Given the description of an element on the screen output the (x, y) to click on. 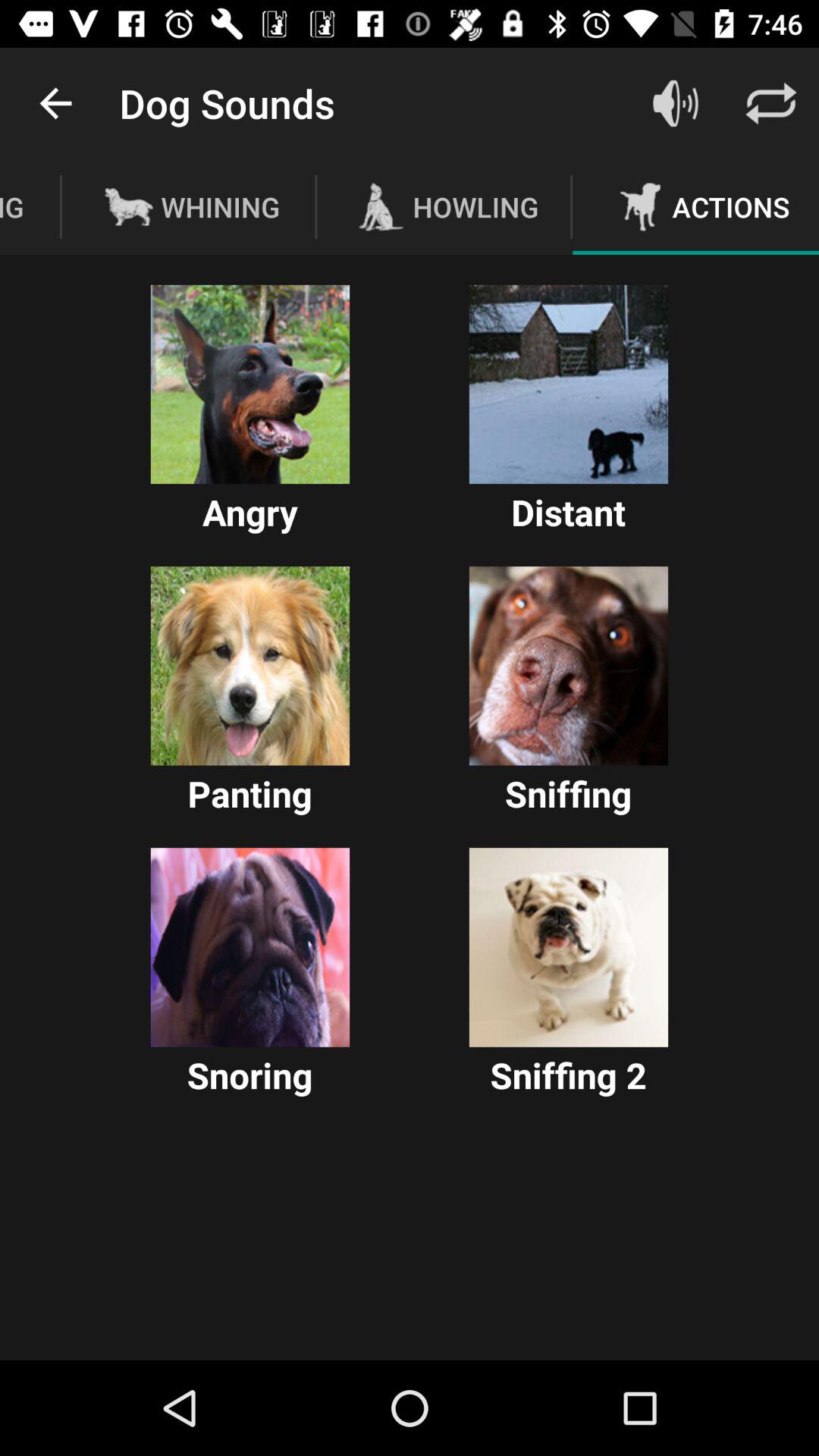
toggle audio off (675, 103)
